Given the description of an element on the screen output the (x, y) to click on. 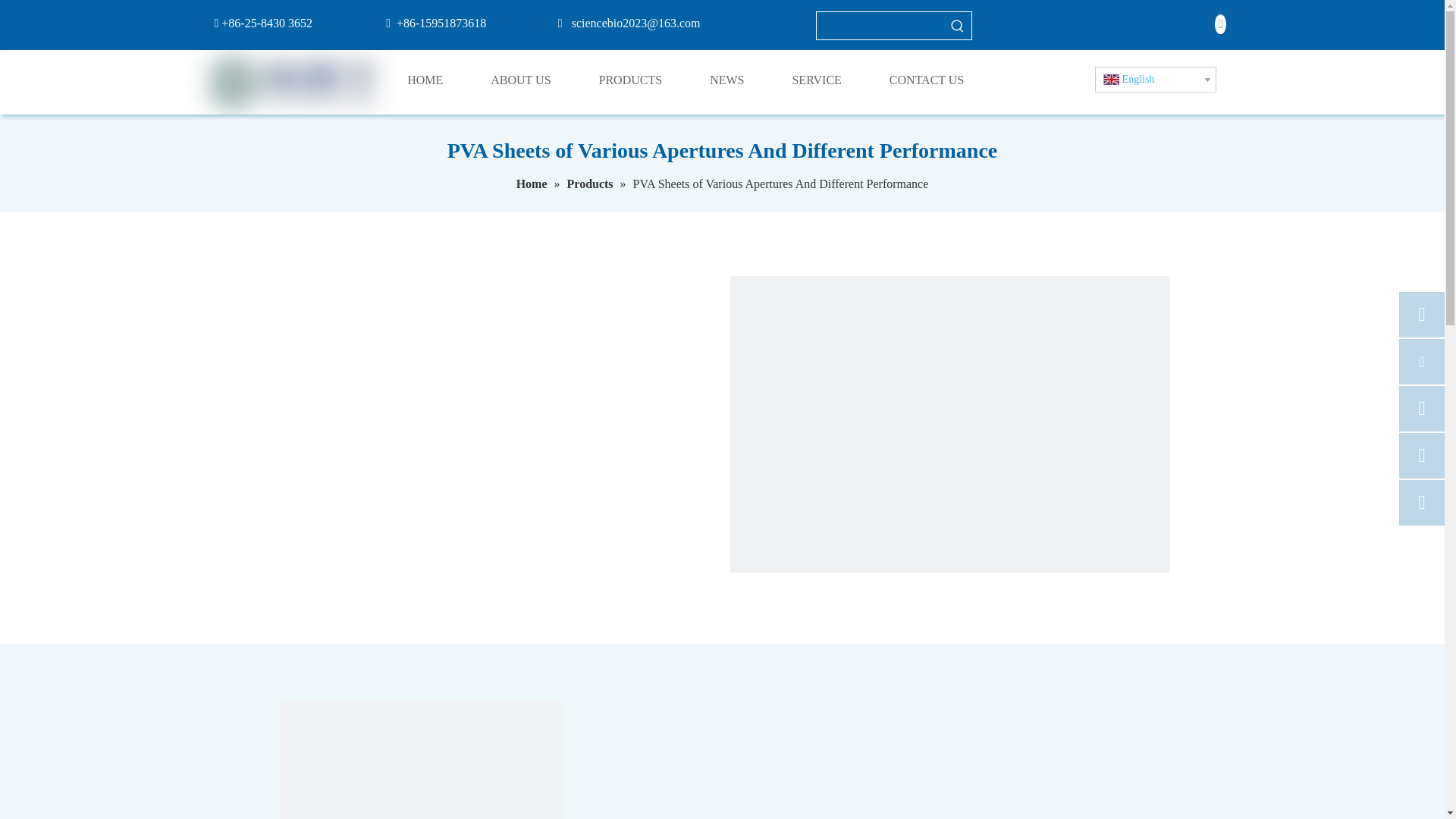
CONTACT US (934, 80)
SERVICE (824, 80)
ABOUT US (528, 80)
PRODUCTS (638, 80)
NEWS (734, 80)
log (292, 81)
HOME (432, 80)
